Given the description of an element on the screen output the (x, y) to click on. 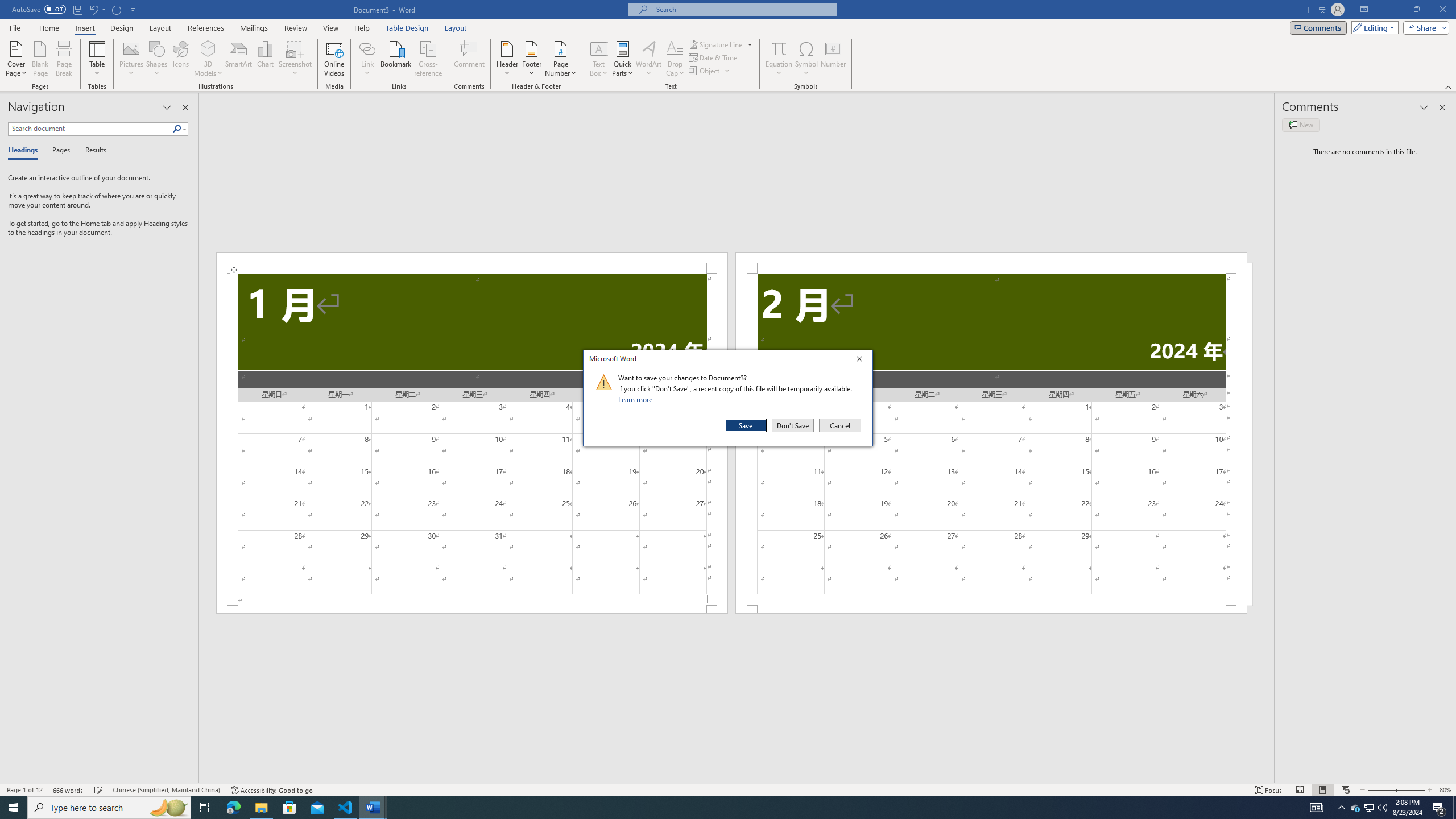
Icons (180, 58)
